Given the description of an element on the screen output the (x, y) to click on. 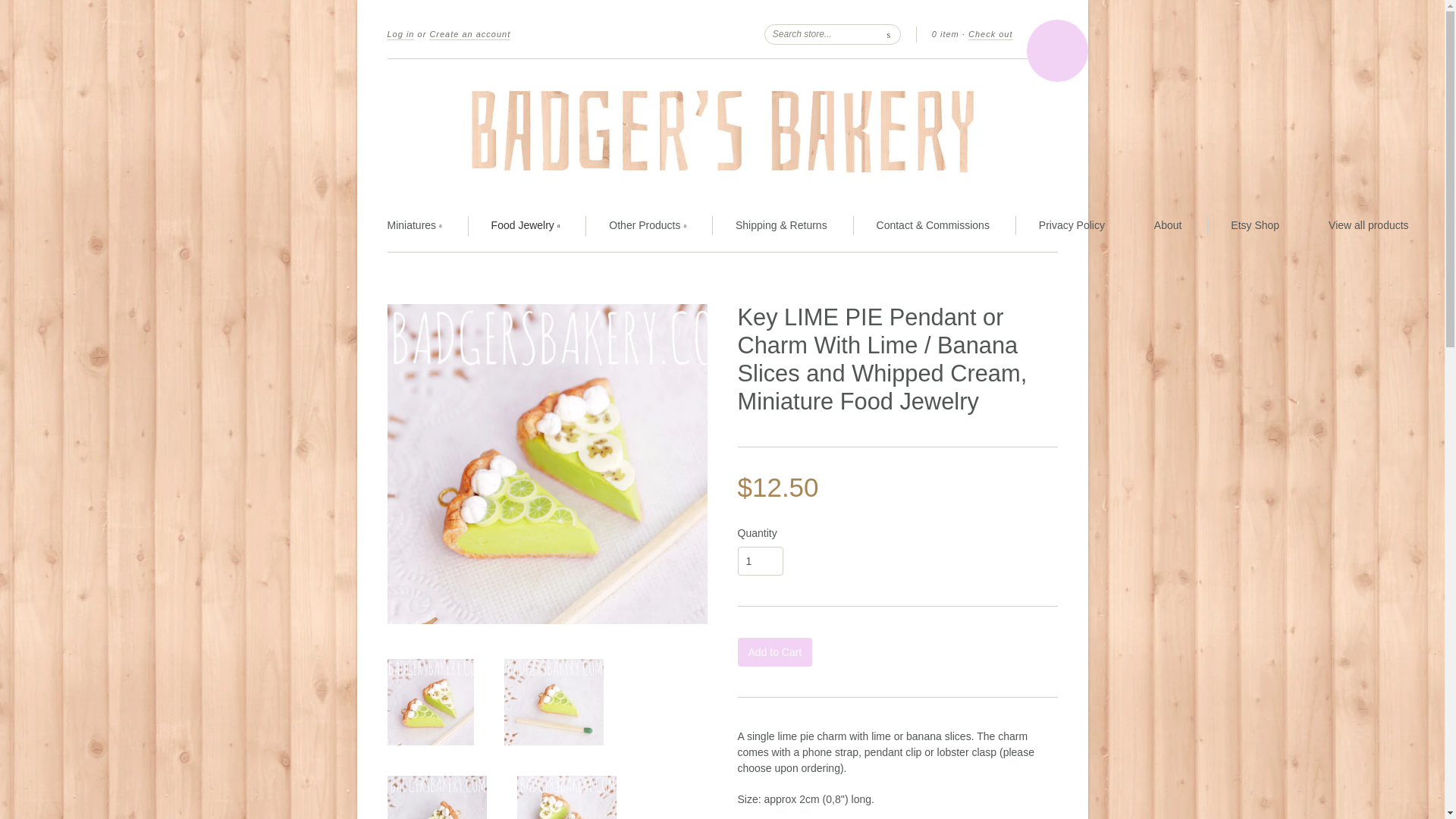
About (1168, 225)
Miniatures (414, 226)
Create an account (470, 34)
View all products (1368, 225)
Etsy Shop (1254, 225)
0 item (945, 34)
1 (759, 561)
Check out (990, 34)
Add to Cart (774, 652)
Food Jewelry (526, 226)
